Given the description of an element on the screen output the (x, y) to click on. 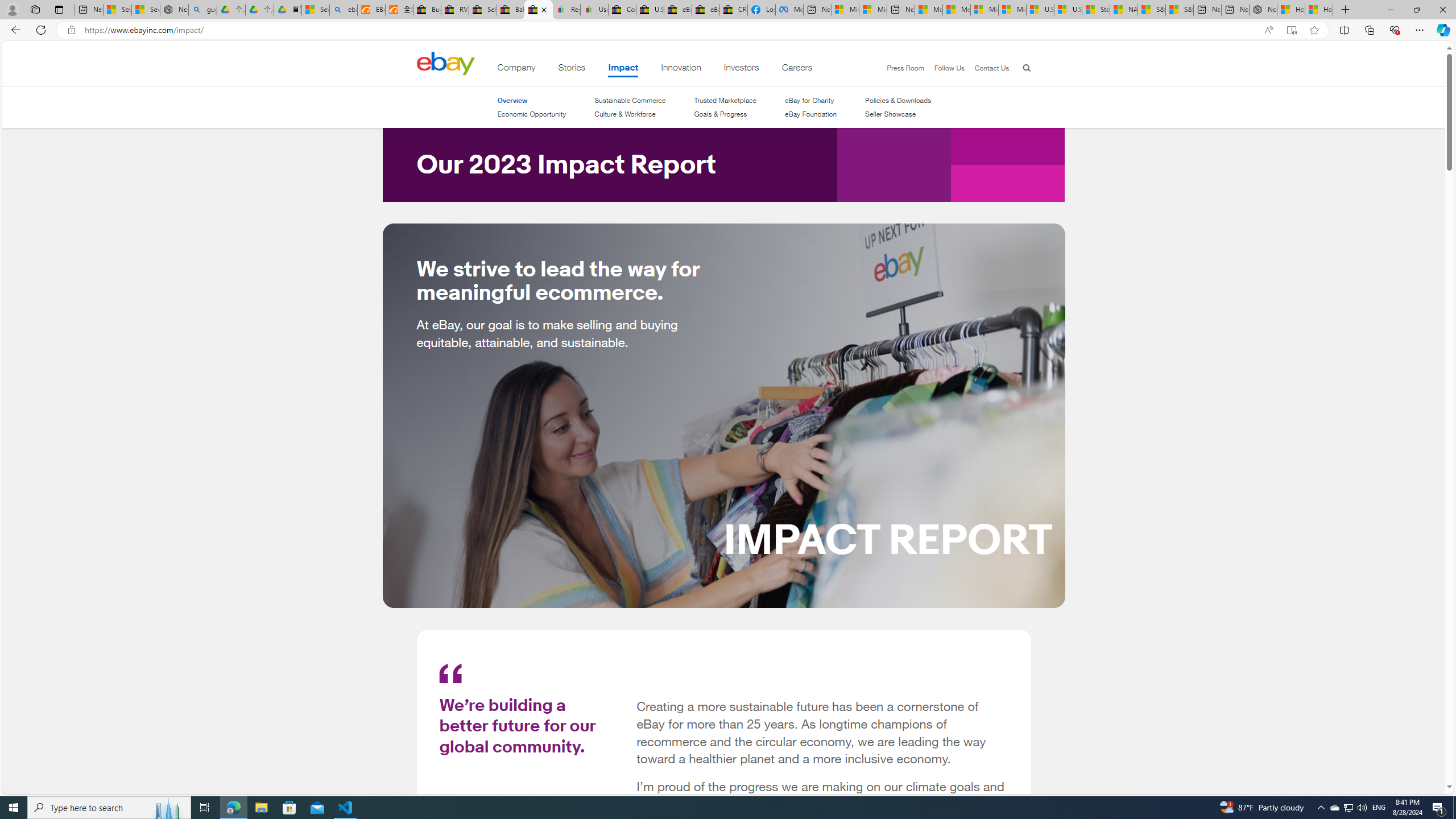
Meta Store (789, 9)
Enter Immersive Reader (F9) (1291, 29)
eBay Impact - eBay Inc. (538, 9)
Overview (531, 100)
Buy Auto Parts & Accessories | eBay (426, 9)
Careers (796, 69)
Press Room (905, 67)
Innovation (681, 69)
